Given the description of an element on the screen output the (x, y) to click on. 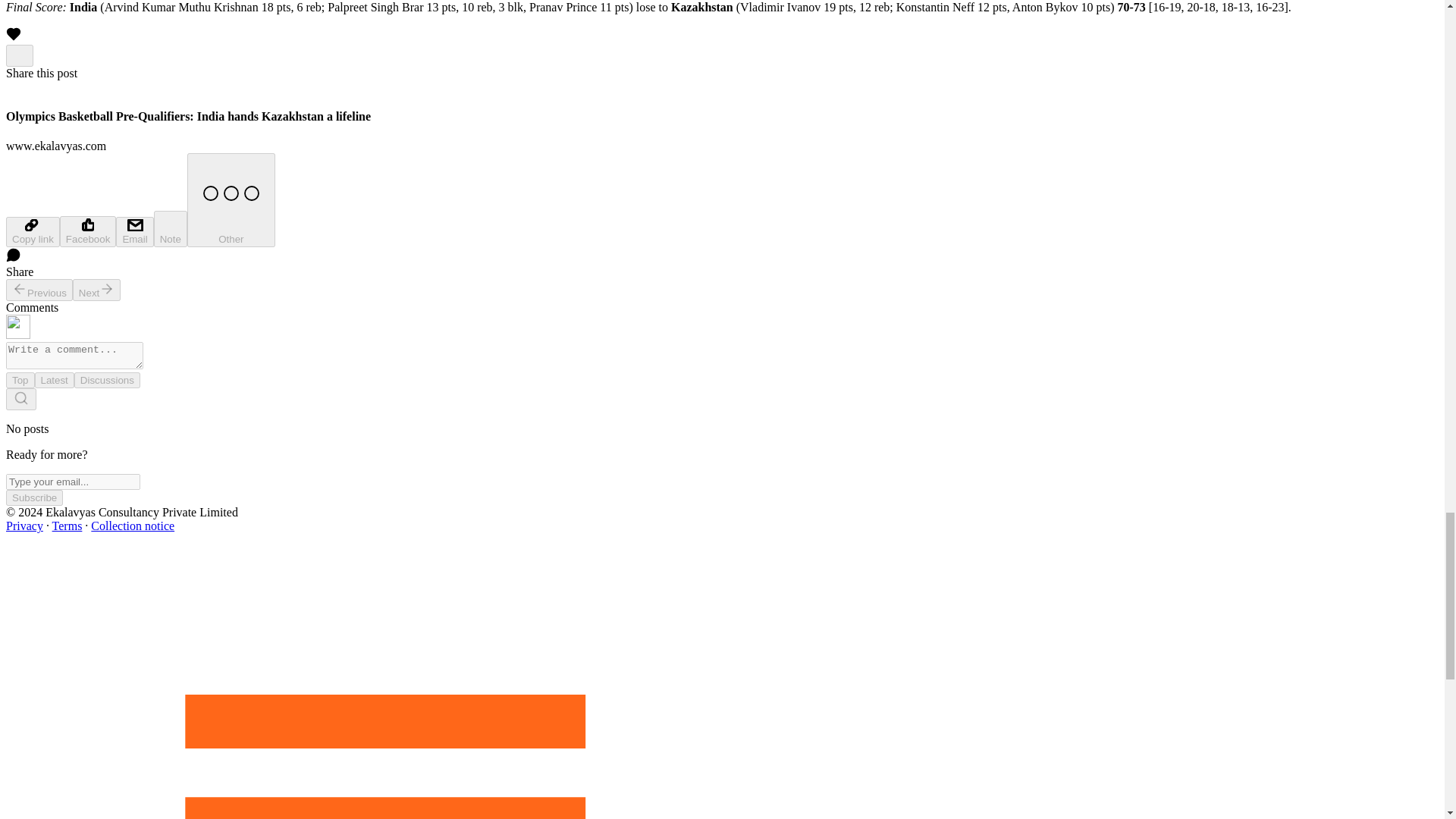
Note (170, 228)
Copy link (32, 232)
Email (134, 232)
Other (231, 200)
Facebook (87, 231)
